Given the description of an element on the screen output the (x, y) to click on. 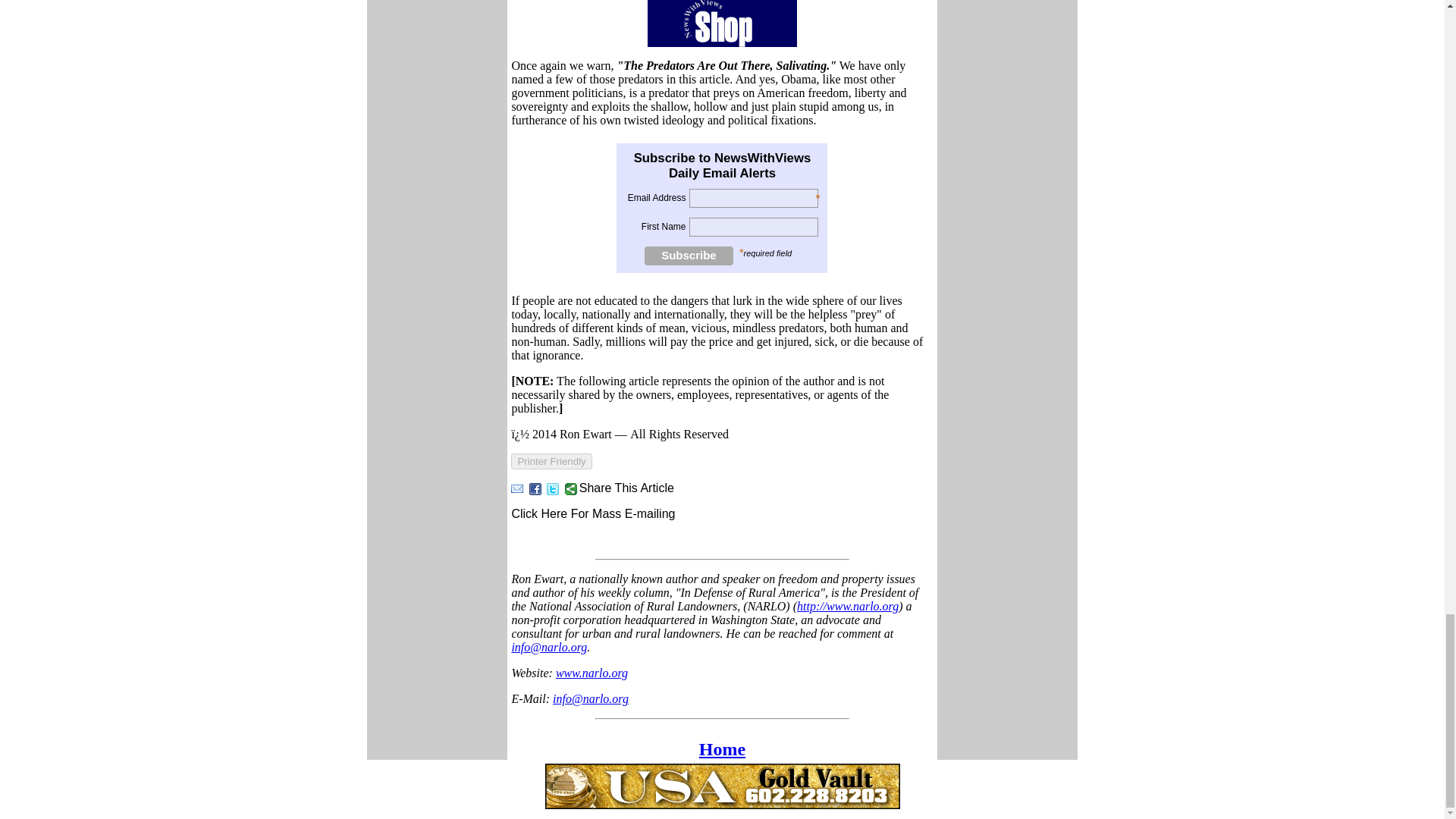
Printer Friendly (551, 461)
Subscribe (689, 255)
Share This Article (619, 487)
Click Here For Mass E-mailing (593, 513)
Home (721, 749)
www.narlo.org (591, 672)
Subscribe (689, 255)
